Given the description of an element on the screen output the (x, y) to click on. 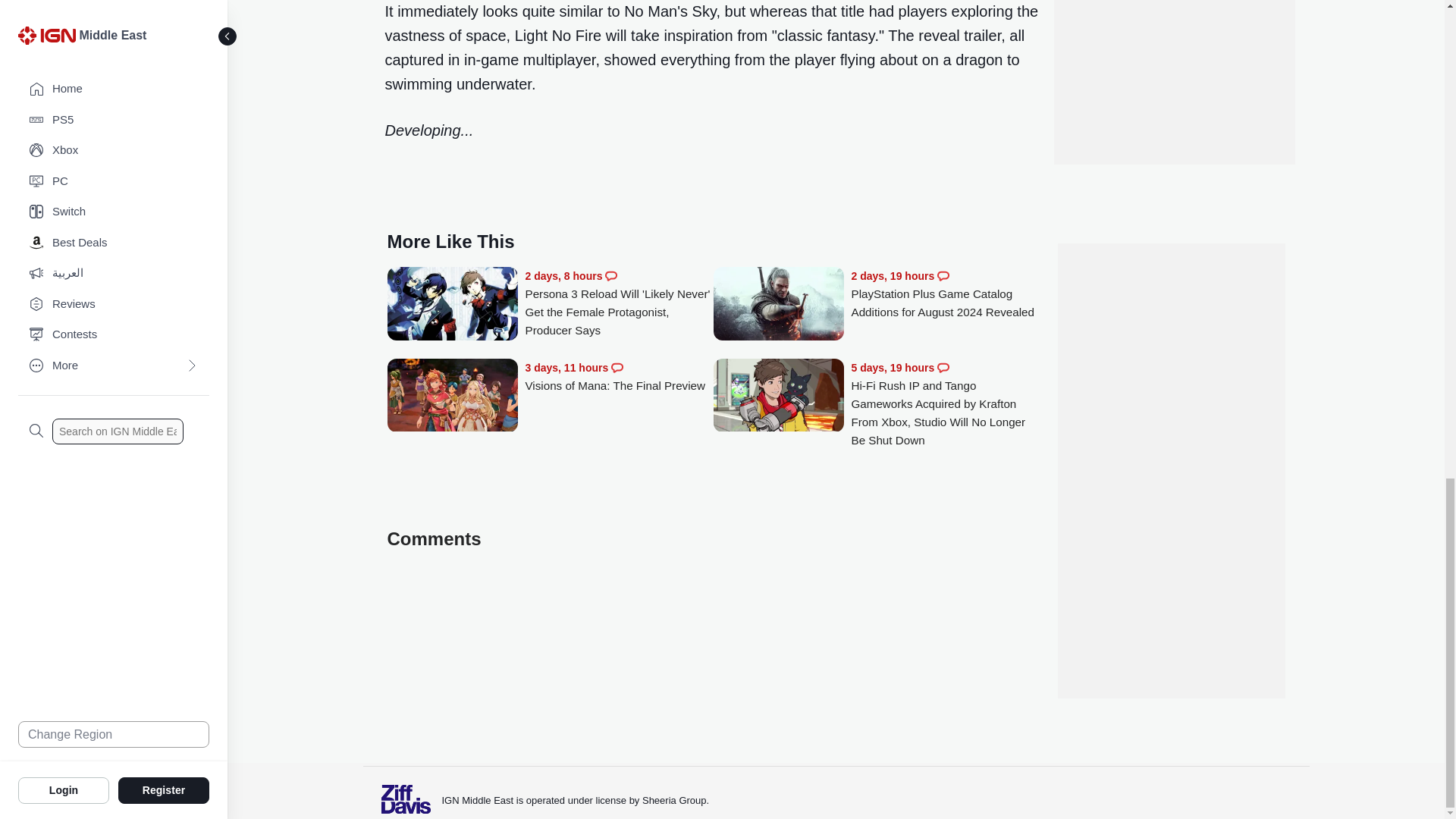
Comments (943, 275)
Visions of Mana: The Final Preview (618, 376)
Comments (617, 367)
Comments (943, 367)
Comments (611, 275)
